Given the description of an element on the screen output the (x, y) to click on. 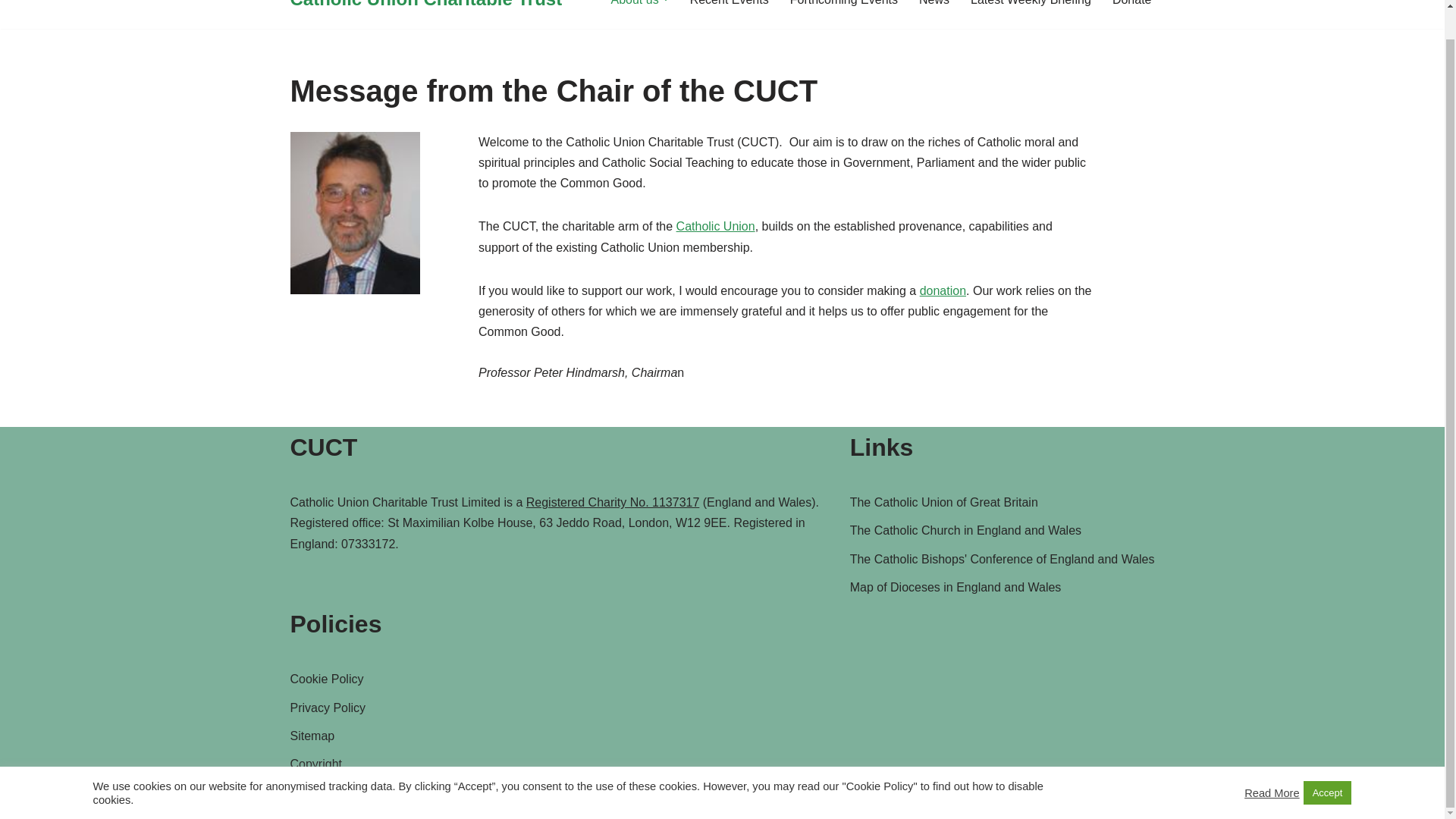
Registered Charity No. 1137317 (612, 502)
The Catholic Bishops' Conference of England and Wales (1002, 558)
Recent Events (729, 4)
Latest Weekly Briefing (1030, 4)
Catholic Union (716, 226)
Skip to content (11, 4)
Catholic Union Charitable Trust (425, 7)
Cookie Policy (325, 678)
donation (943, 290)
Donate (1131, 4)
About us (635, 4)
Neve (303, 799)
News (933, 4)
Sitemap (311, 735)
Privacy Policy (327, 707)
